Given the description of an element on the screen output the (x, y) to click on. 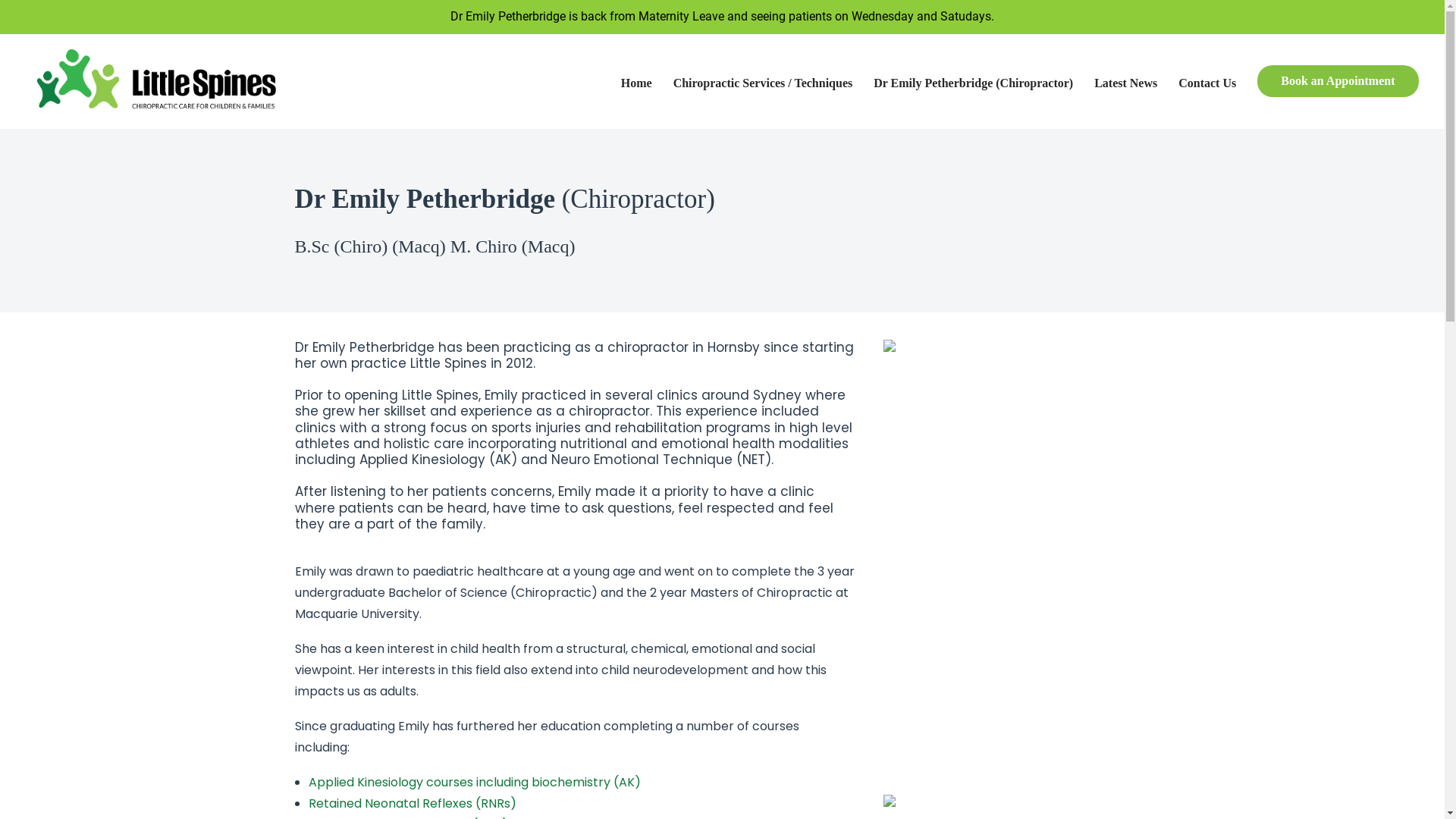
Home Element type: text (641, 81)
Retained Neonatal Reflexes (RNRs) Element type: text (411, 803)
Chiropractic Services / Techniques Element type: text (762, 81)
Dr Emily Petherbridge (Chiropractor) Element type: text (972, 81)
Latest News Element type: text (1125, 81)
Little-Spines-Dr-Emily-Petherbridge 1 Element type: hover (1015, 539)
Applied Kinesiology courses including biochemistry (AK) Element type: text (473, 781)
Book an Appointment Element type: text (1332, 81)
Contact Us Element type: text (1206, 81)
